Given the description of an element on the screen output the (x, y) to click on. 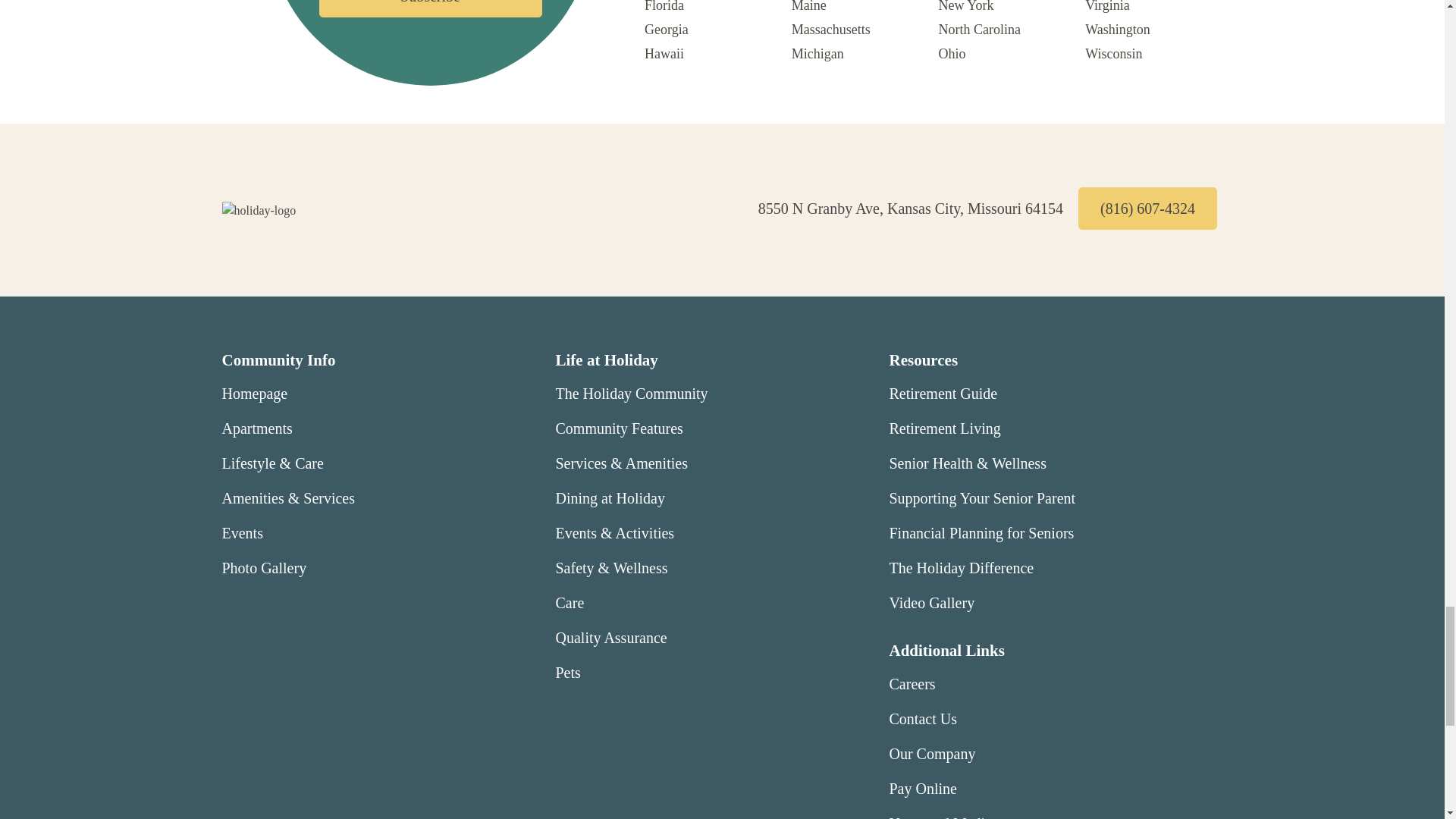
Maine (809, 6)
Georgia (666, 29)
Massachusetts (831, 29)
Hawaii (664, 53)
Florida (664, 6)
Michigan (818, 53)
Subscribe (429, 8)
